Given the description of an element on the screen output the (x, y) to click on. 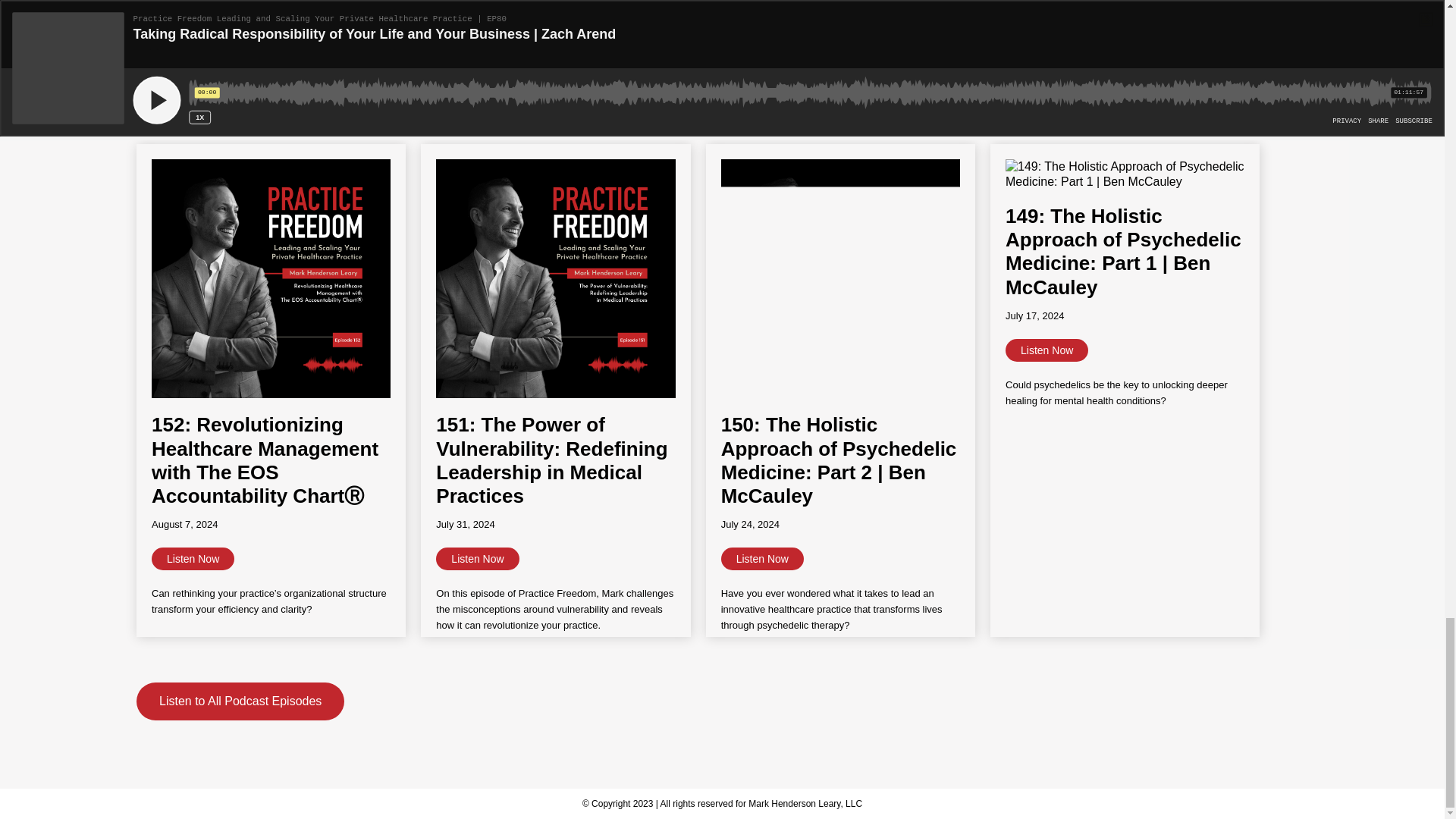
Listen Now (476, 558)
Listen Now (192, 558)
Listen Now (761, 558)
Listen Now (1046, 350)
Listen to All Podcast Episodes (239, 701)
